Given the description of an element on the screen output the (x, y) to click on. 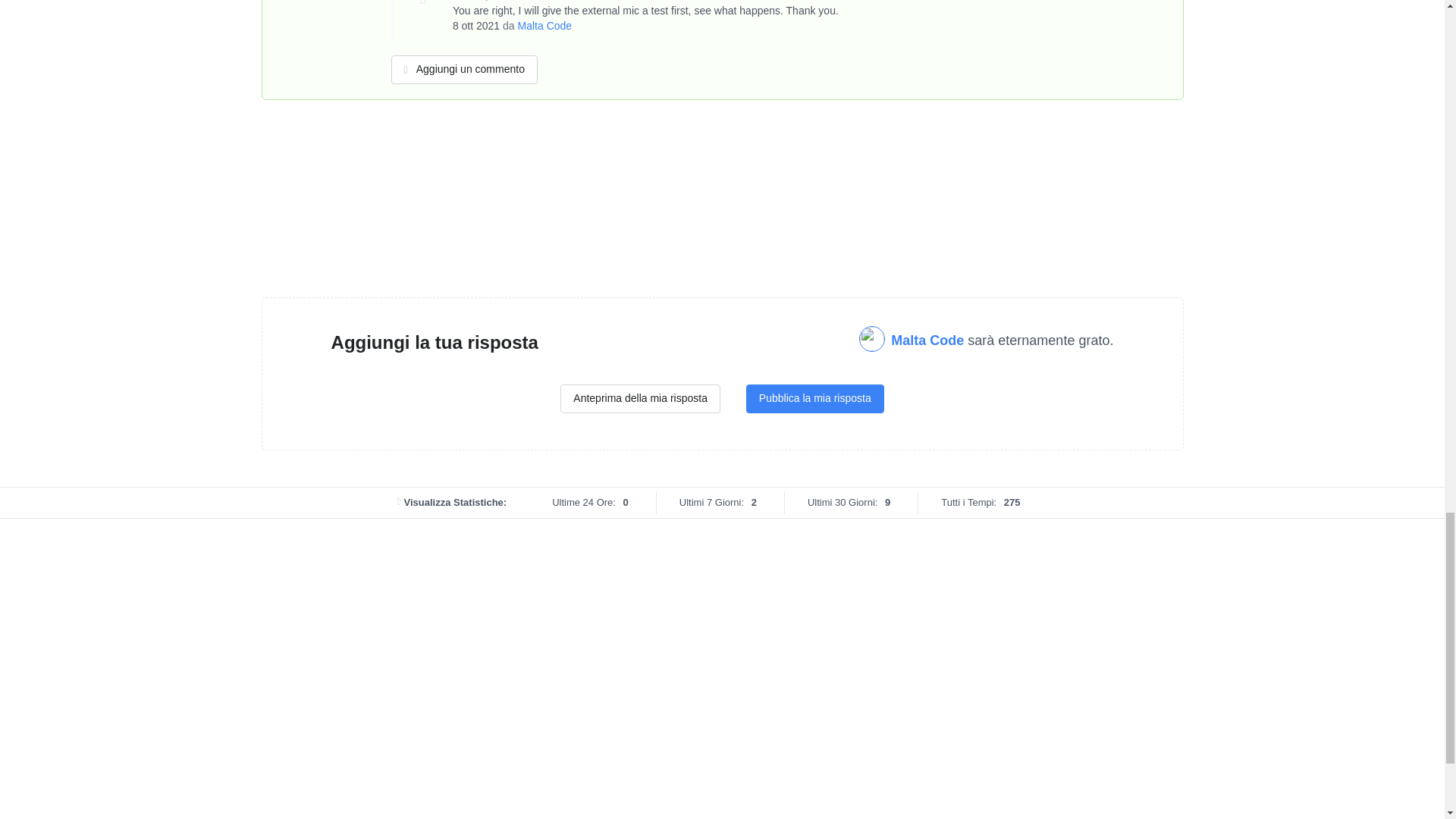
Fri, 08 Oct 2021 12:44:34 -0700 (475, 25)
